Given the description of an element on the screen output the (x, y) to click on. 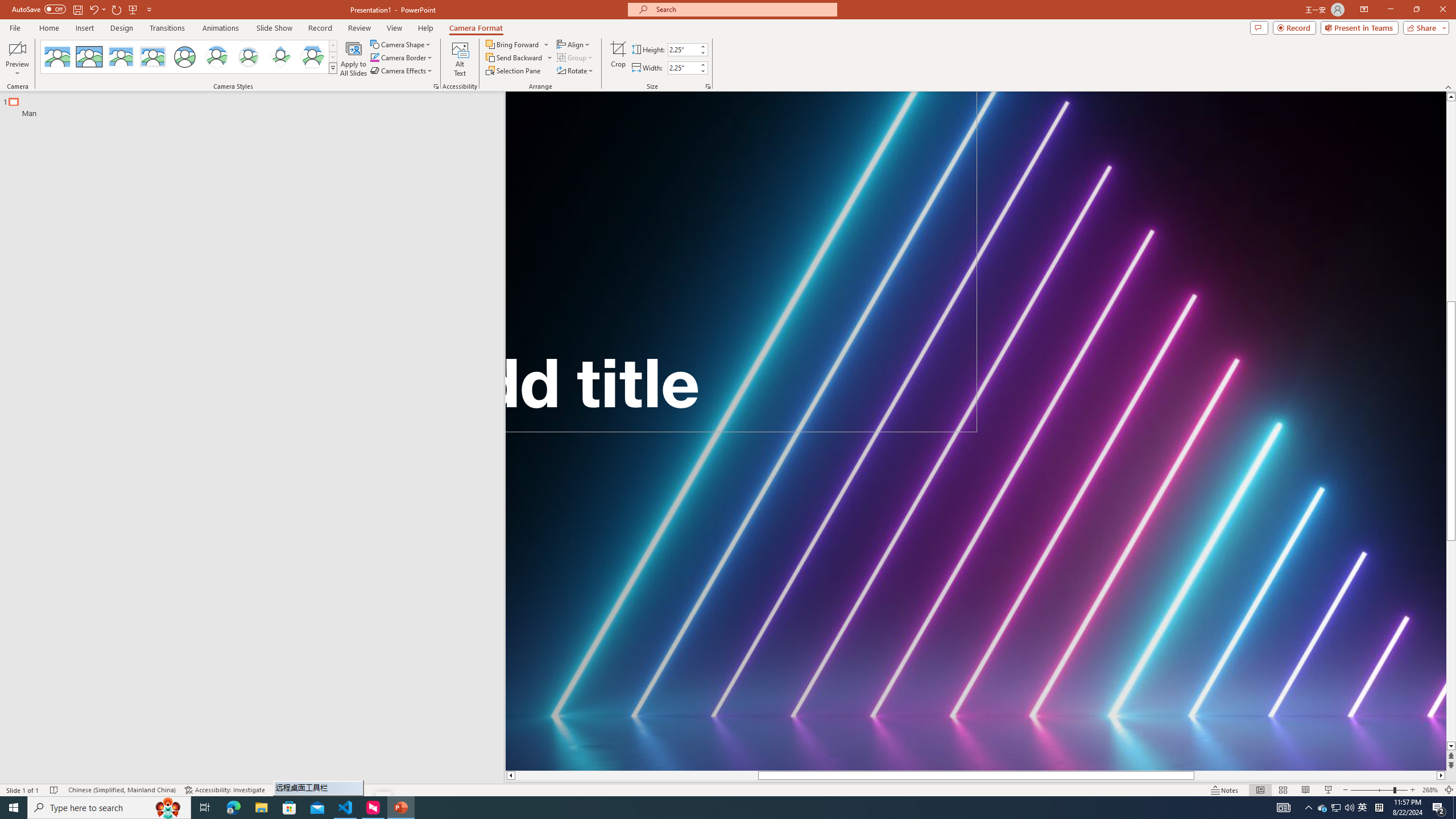
Soft Edge Circle (248, 56)
Crop (617, 58)
Soft Edge Rectangle (152, 56)
